Given the description of an element on the screen output the (x, y) to click on. 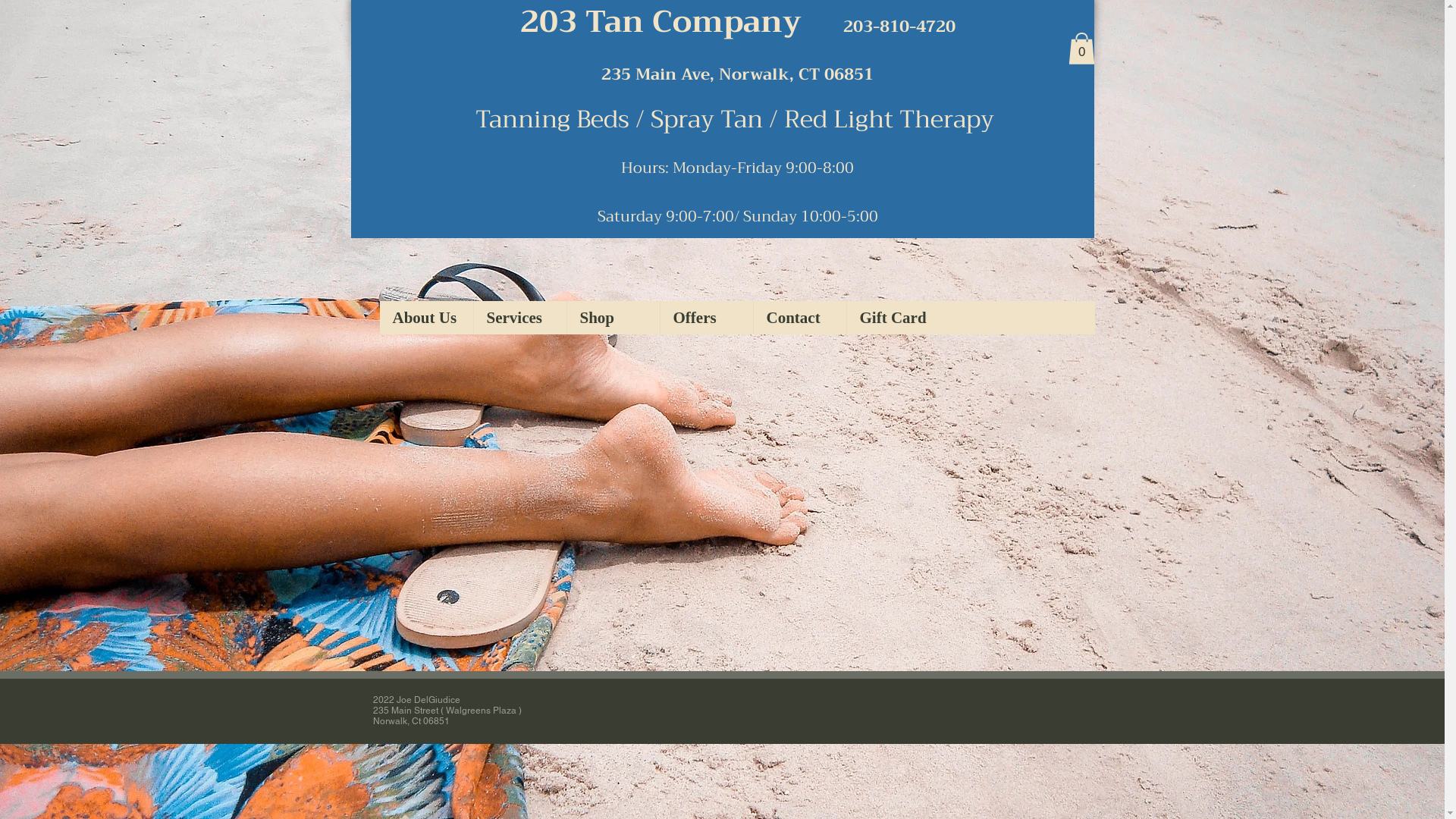
Offers Element type: text (706, 317)
203-810-4720
235 Main Ave, Norwalk, CT 06851 Element type: text (778, 49)
Contact Element type: text (798, 317)
0 Element type: text (1080, 48)
Services Element type: text (519, 317)
Gift Card Element type: text (892, 317)
About Us Element type: text (425, 317)
Shop Element type: text (611, 317)
